Given the description of an element on the screen output the (x, y) to click on. 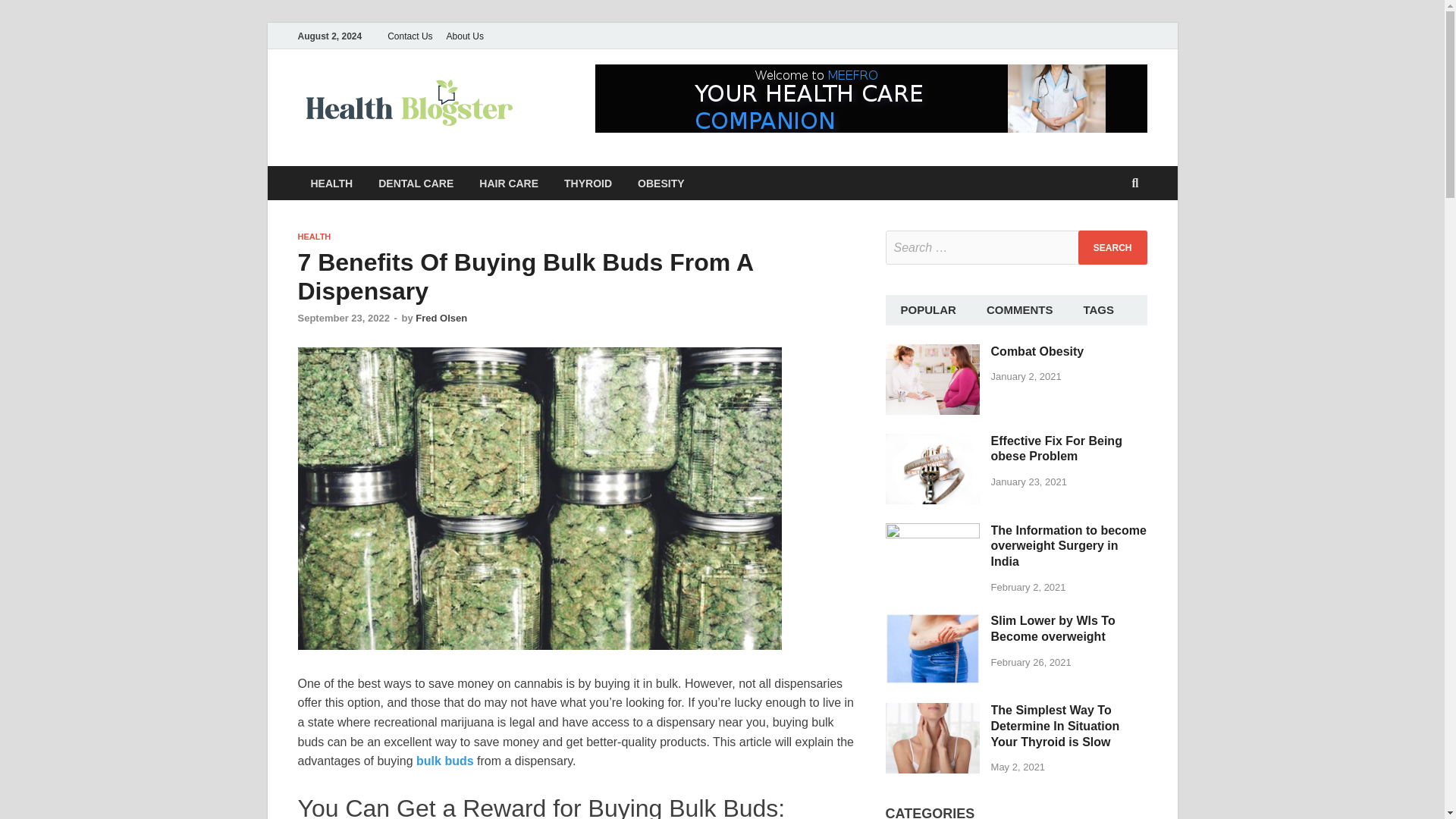
Search (1112, 247)
Effective Fix For Being obese Problem (1056, 448)
POPULAR (928, 309)
The Information to become overweight Surgery in India (932, 530)
COMMENTS (1019, 309)
Contact Us (409, 35)
Health Blogster (629, 100)
Combat Obesity (1037, 350)
Fred Olsen (440, 317)
TAGS (1098, 309)
HEALTH (313, 235)
September 23, 2022 (342, 317)
OBESITY (660, 182)
Effective Fix For Being obese Problem (932, 440)
